Given the description of an element on the screen output the (x, y) to click on. 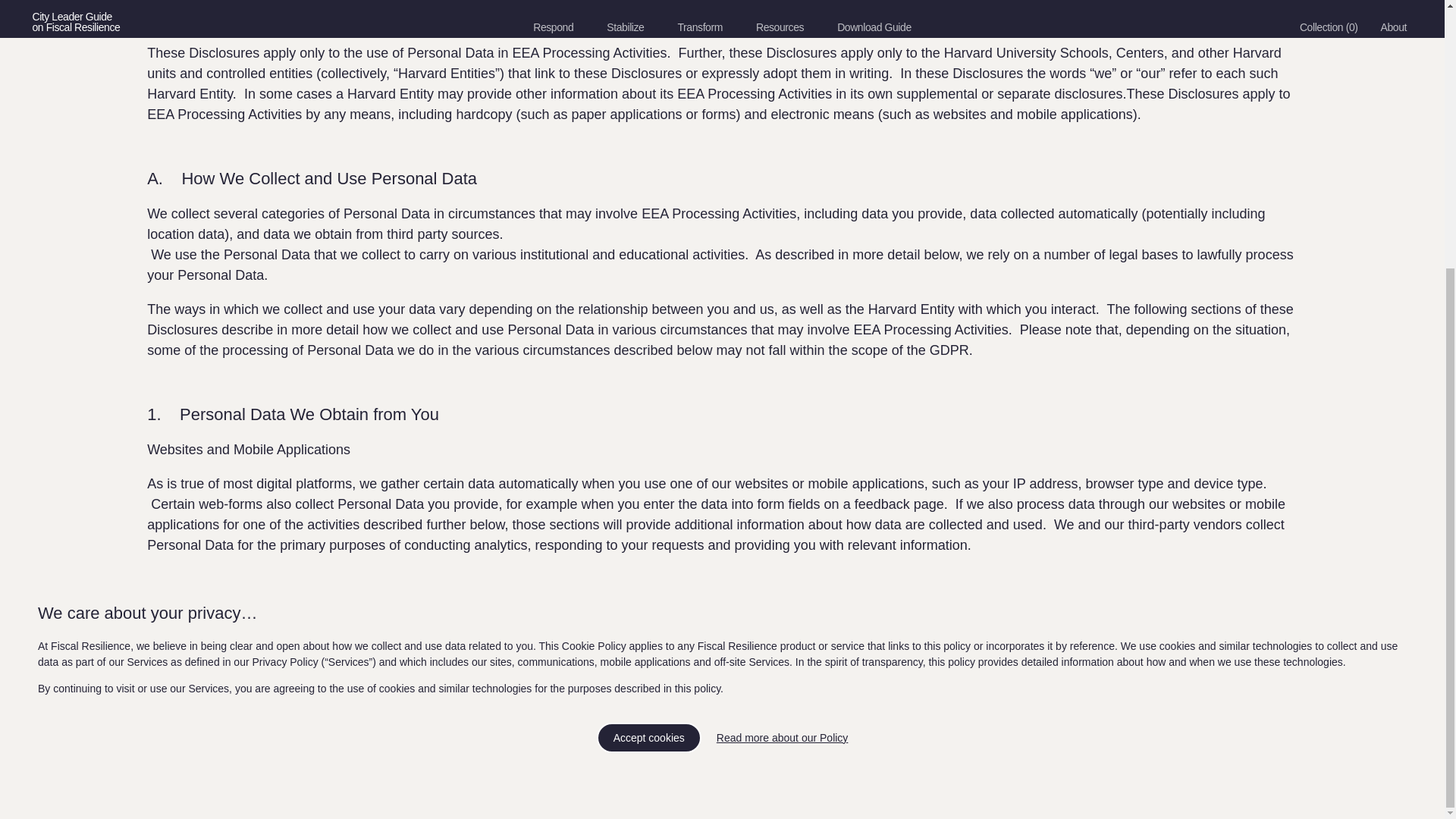
REPORT COPYRIGHT INFRINGEMENT (405, 782)
Accept cookies (648, 381)
Terms and Conditions (1355, 739)
Read more about our Policy (782, 378)
DIGITAL ACCESSIBILITY (239, 782)
PRIVACY (59, 782)
ACCESSIBILITY (130, 782)
